Given the description of an element on the screen output the (x, y) to click on. 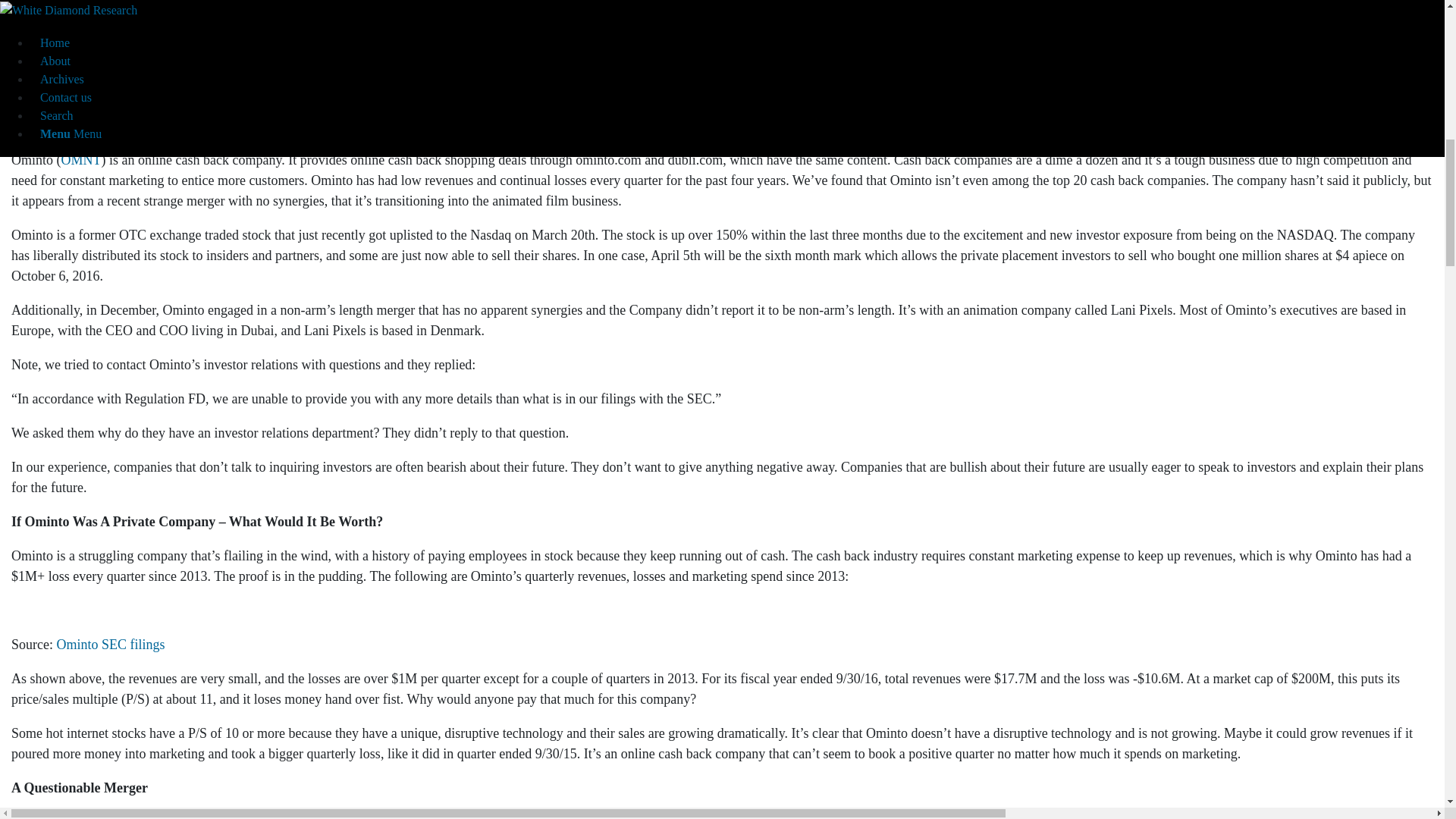
announced (158, 816)
Ominto SEC filings (110, 644)
OMNT (80, 159)
